Given the description of an element on the screen output the (x, y) to click on. 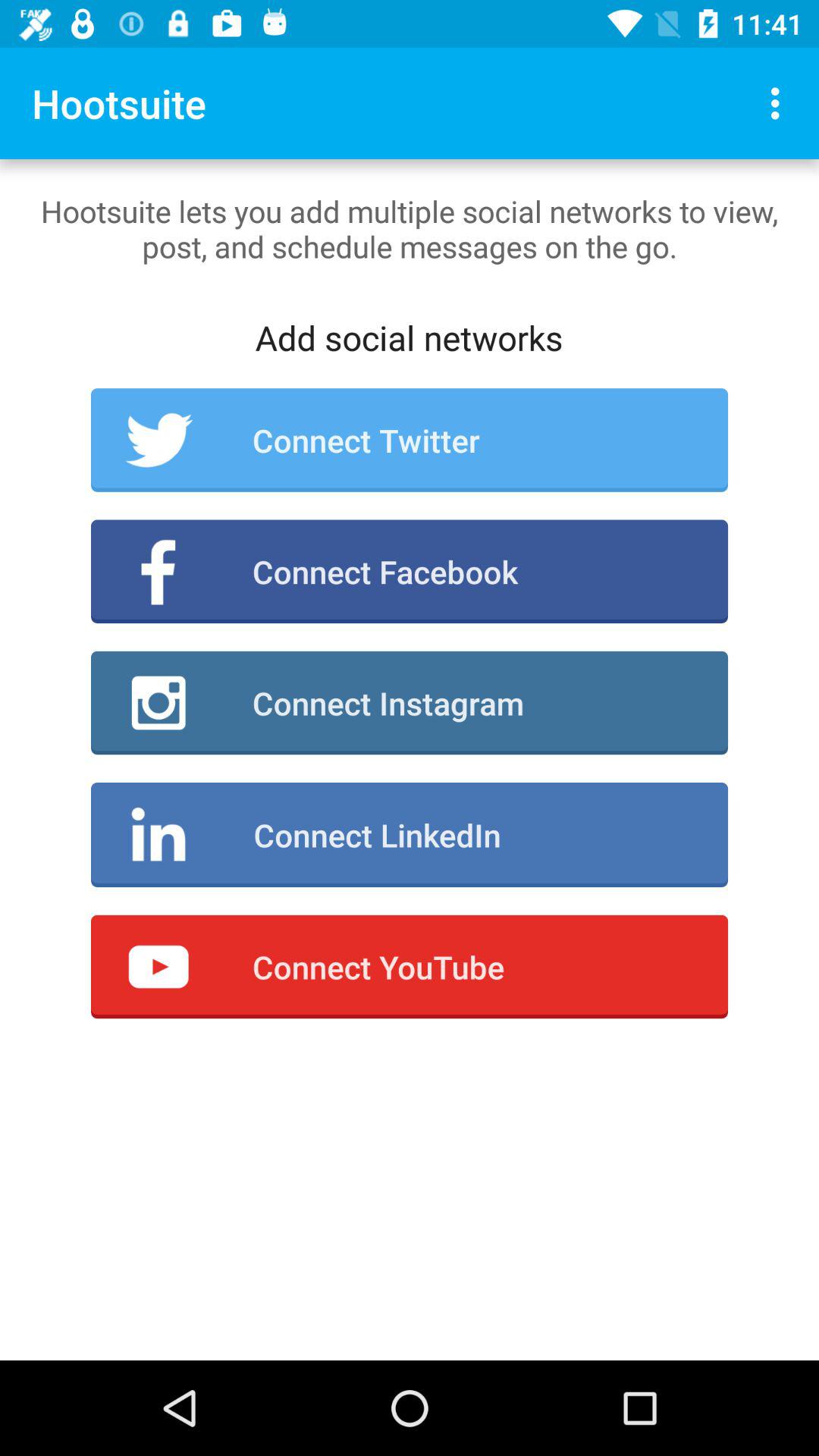
select the icon at right side of connect linkedin (159, 834)
